Given the description of an element on the screen output the (x, y) to click on. 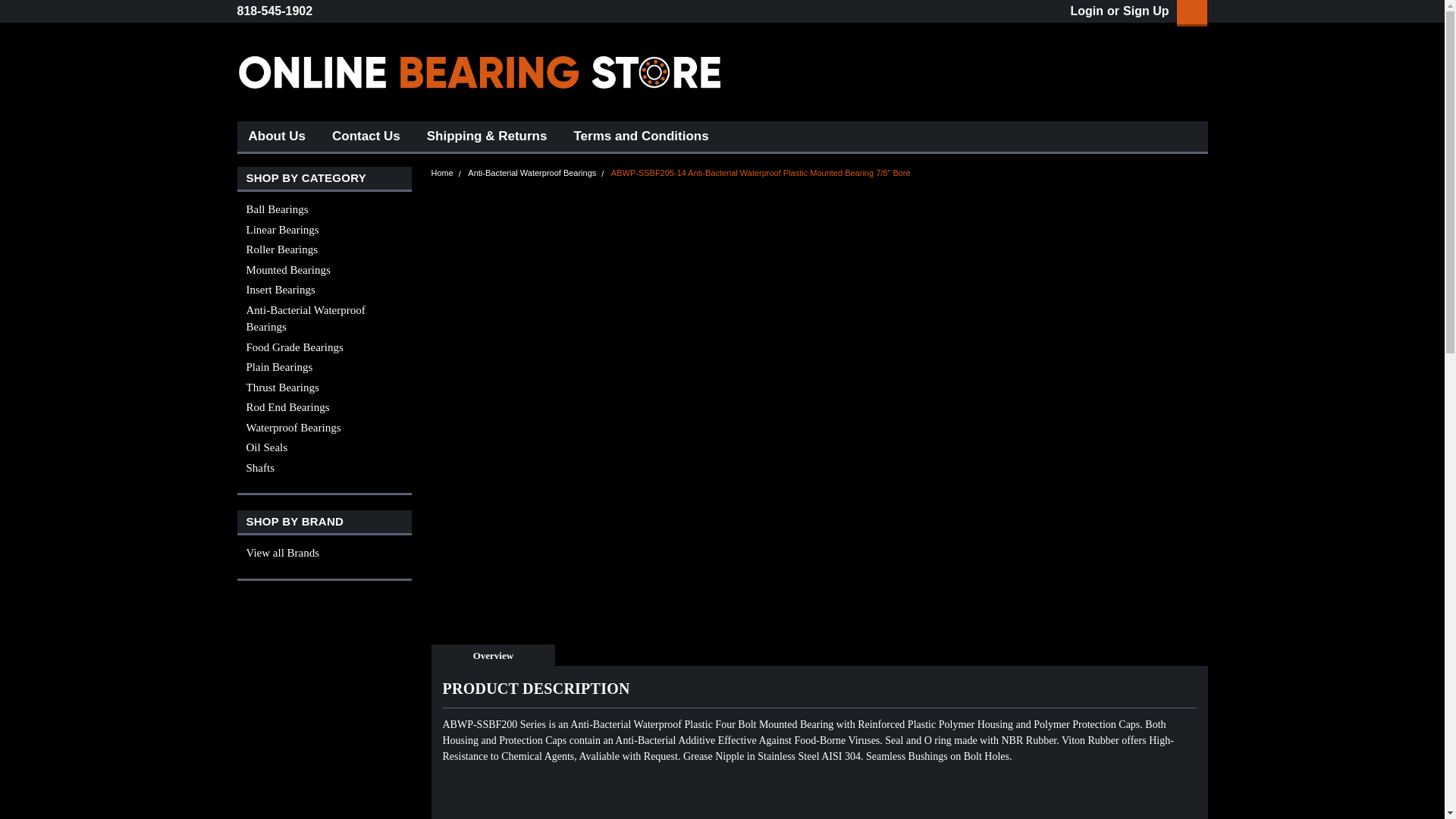
Sign Up (1144, 11)
Login (1086, 11)
Online Bearing Store (478, 71)
